Given the description of an element on the screen output the (x, y) to click on. 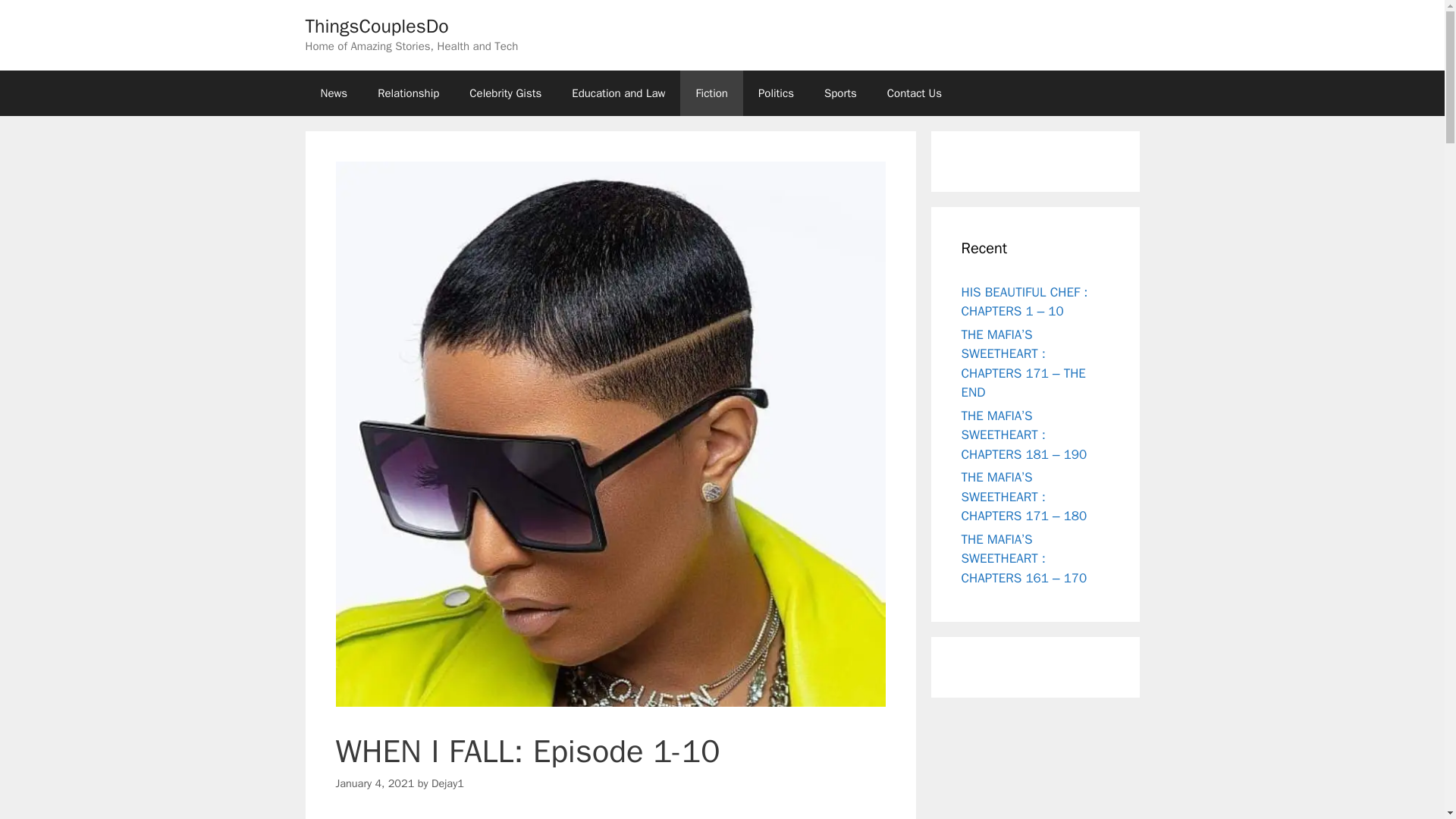
Politics (775, 92)
ThingsCouplesDo (376, 25)
News (333, 92)
Dejay1 (447, 783)
Fiction (710, 92)
Education and Law (617, 92)
View all posts by Dejay1 (447, 783)
Celebrity Gists (505, 92)
Relationship (408, 92)
Contact Us (914, 92)
Sports (840, 92)
